Given the description of an element on the screen output the (x, y) to click on. 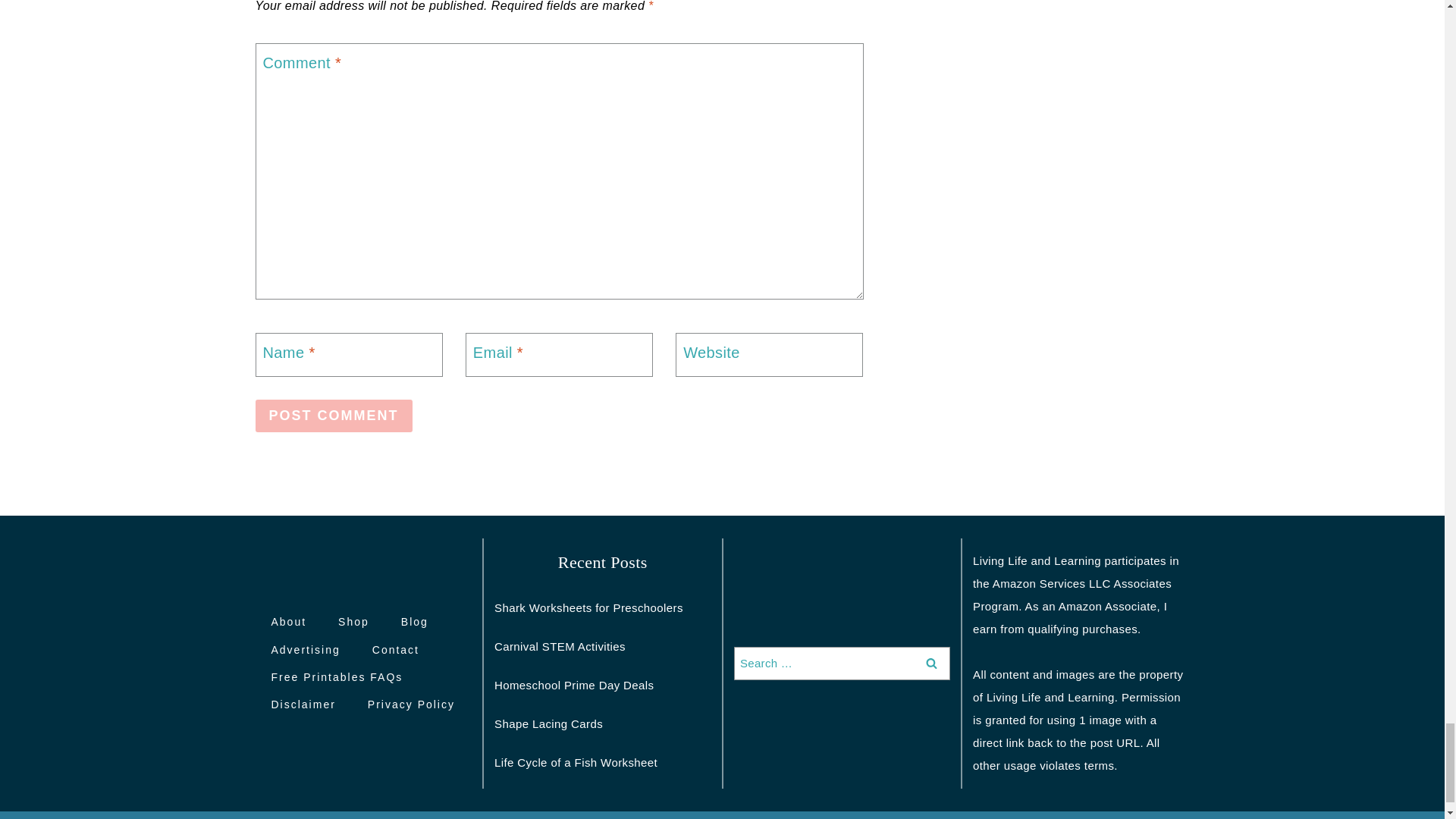
Search (931, 663)
Post Comment (333, 415)
Search (931, 663)
